Given the description of an element on the screen output the (x, y) to click on. 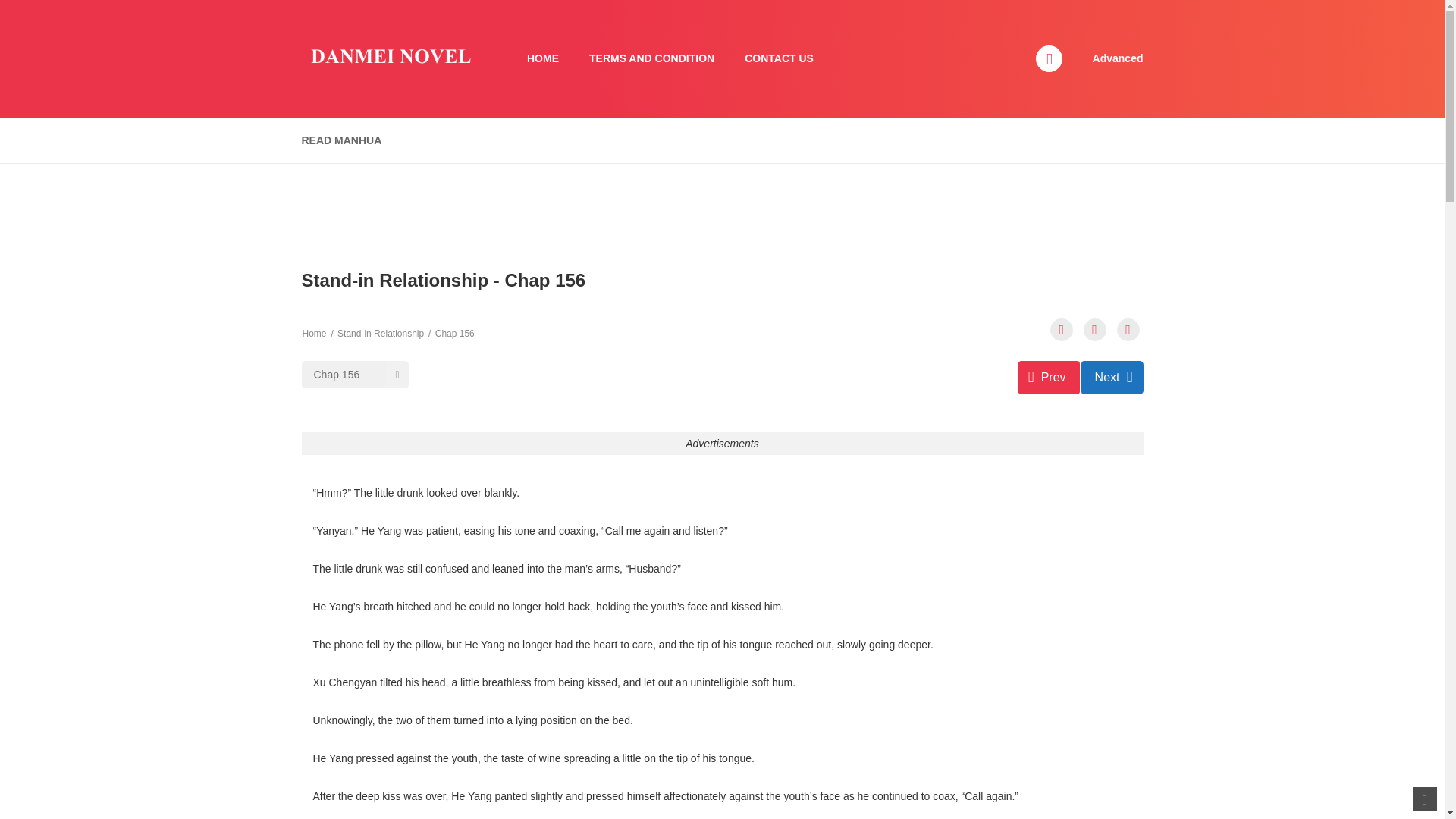
Chap 155 (1048, 377)
HOME (542, 58)
CONTACT US (778, 58)
READ MANHUA (341, 140)
Next (1111, 377)
Advanced (1117, 58)
Search (970, 9)
Prev (1048, 377)
Danmei Novels (389, 57)
Home (313, 333)
